Given the description of an element on the screen output the (x, y) to click on. 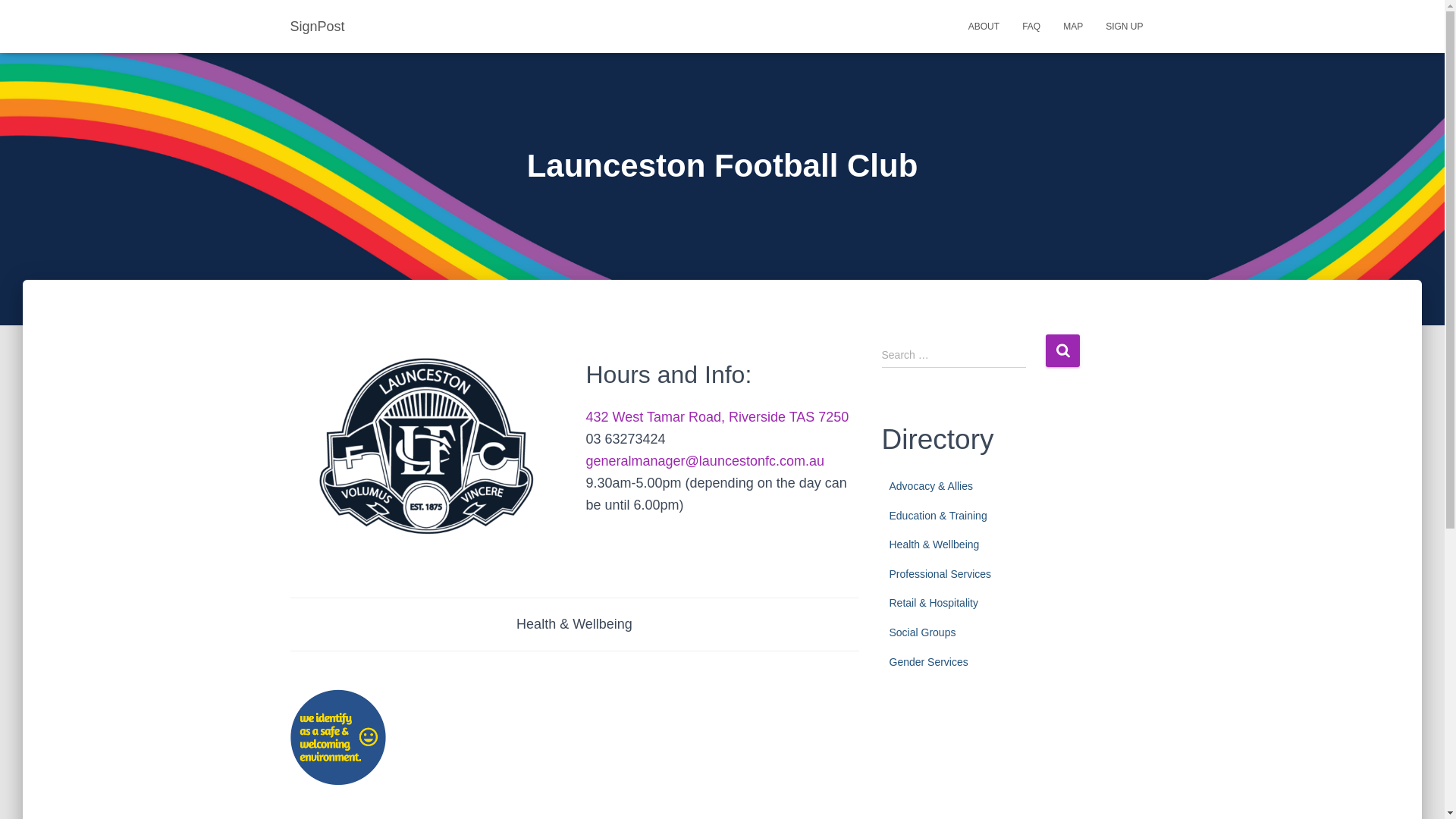
Sign Up (1124, 26)
SignPost (317, 26)
432 West Tamar Road, Riverside TAS 7250 (716, 417)
safe icon (337, 736)
Search (1062, 350)
Search (1062, 350)
Social Groups (921, 632)
SignPost (317, 26)
MAP (1072, 26)
SIGN UP (1124, 26)
ABOUT (983, 26)
Map (1072, 26)
FAQ (1030, 26)
Gender Services (928, 662)
Professional Services (939, 573)
